Given the description of an element on the screen output the (x, y) to click on. 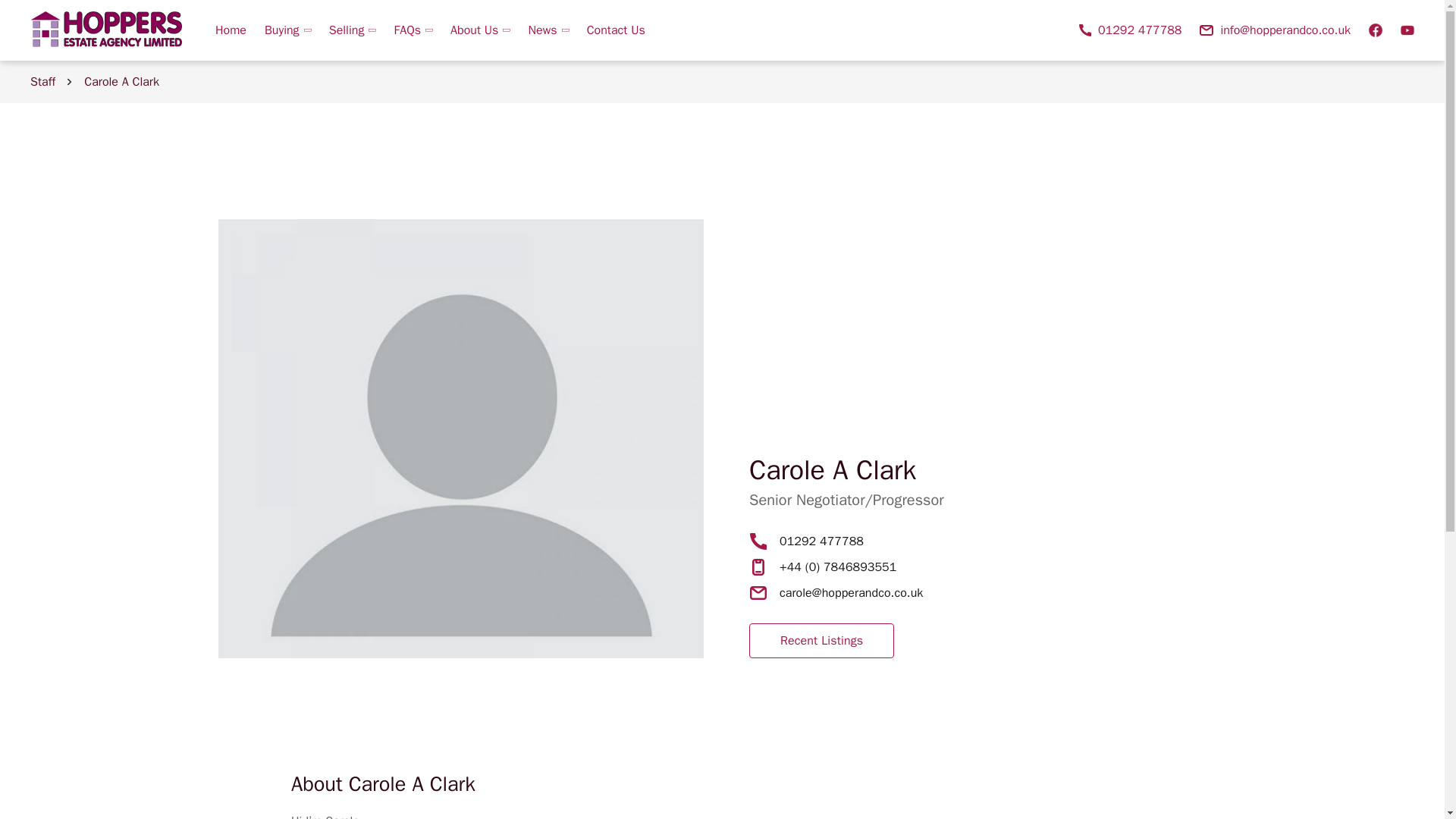
01292 477788 (1129, 29)
Recent Listings (821, 640)
Staff (42, 81)
Contact Us (611, 29)
Home (231, 29)
Recent Listings (821, 640)
01292 477788 (820, 541)
Carole A Clark (121, 81)
